Given the description of an element on the screen output the (x, y) to click on. 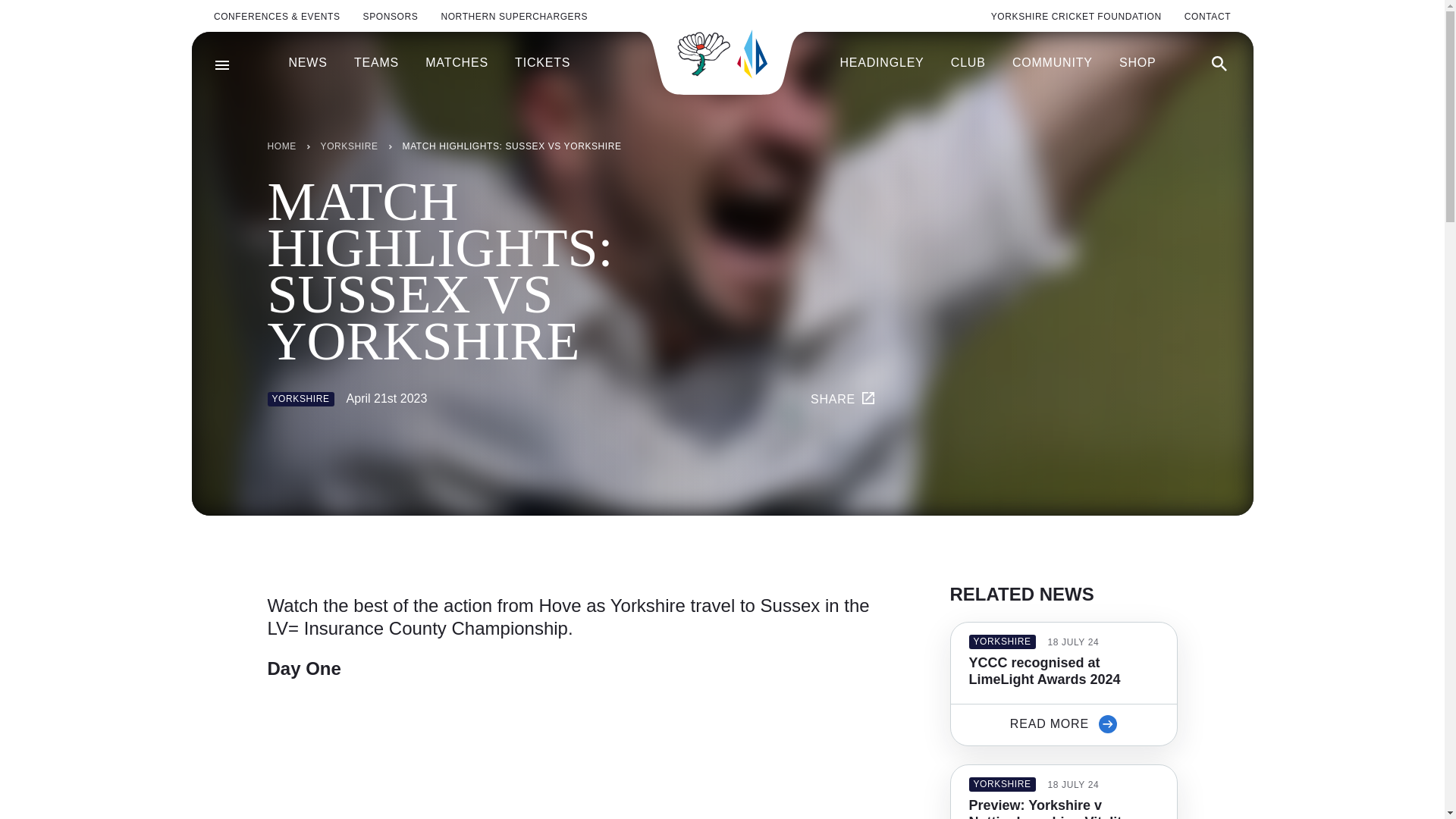
TEAMS (375, 62)
Highlights: Sussex vs Yorkshire  - Day One (456, 755)
MATCHES (456, 62)
HEADINGLEY (881, 62)
NORTHERN SUPERCHARGERS (514, 16)
TICKETS (542, 62)
SPONSORS (390, 16)
YORKSHIRE CRICKET FOUNDATION (1076, 16)
NEWS (307, 62)
Yorkshire County Cricket Club (721, 53)
CONTACT (1207, 16)
